Given the description of an element on the screen output the (x, y) to click on. 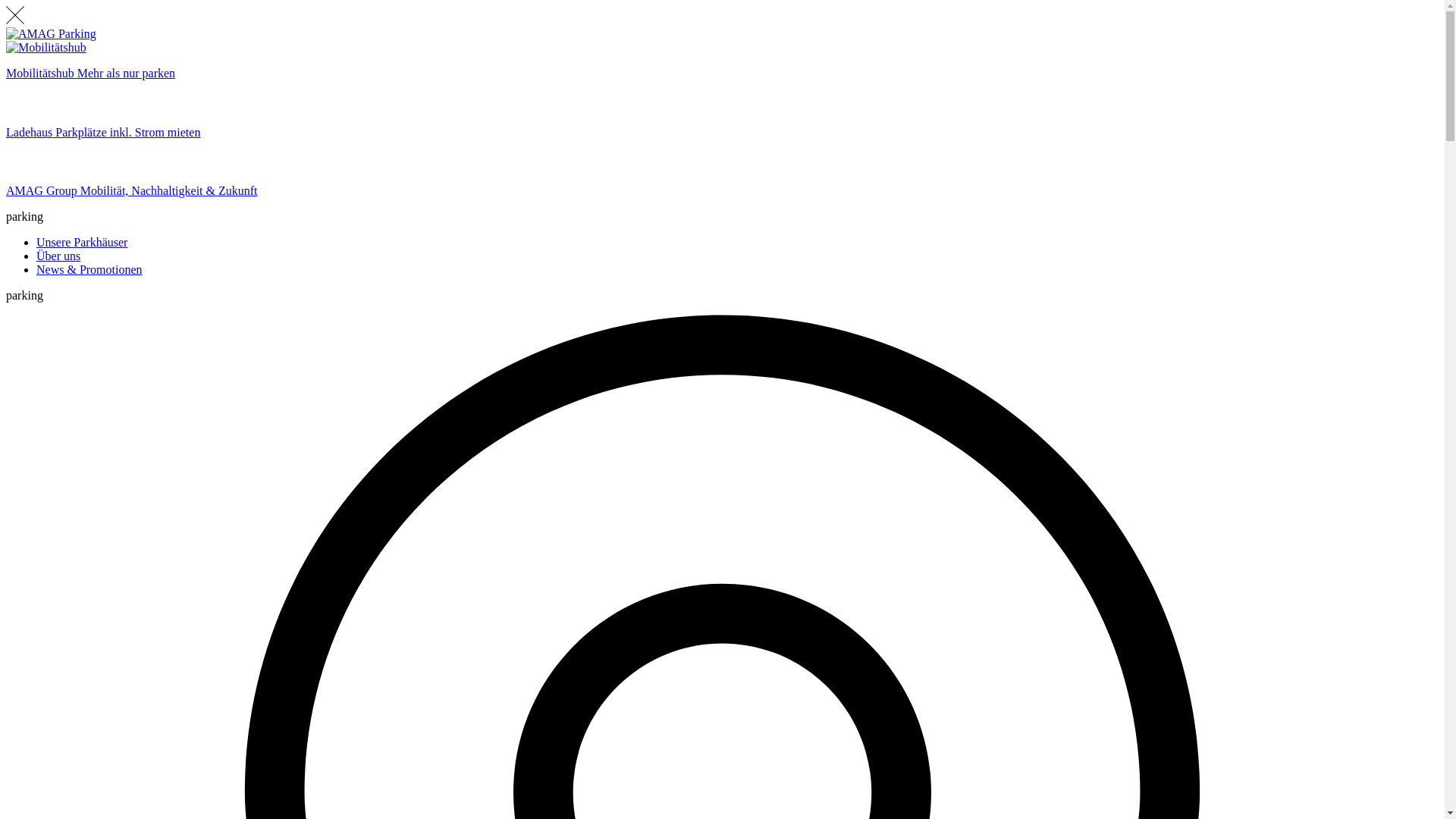
News & Promotionen Element type: text (89, 269)
